Given the description of an element on the screen output the (x, y) to click on. 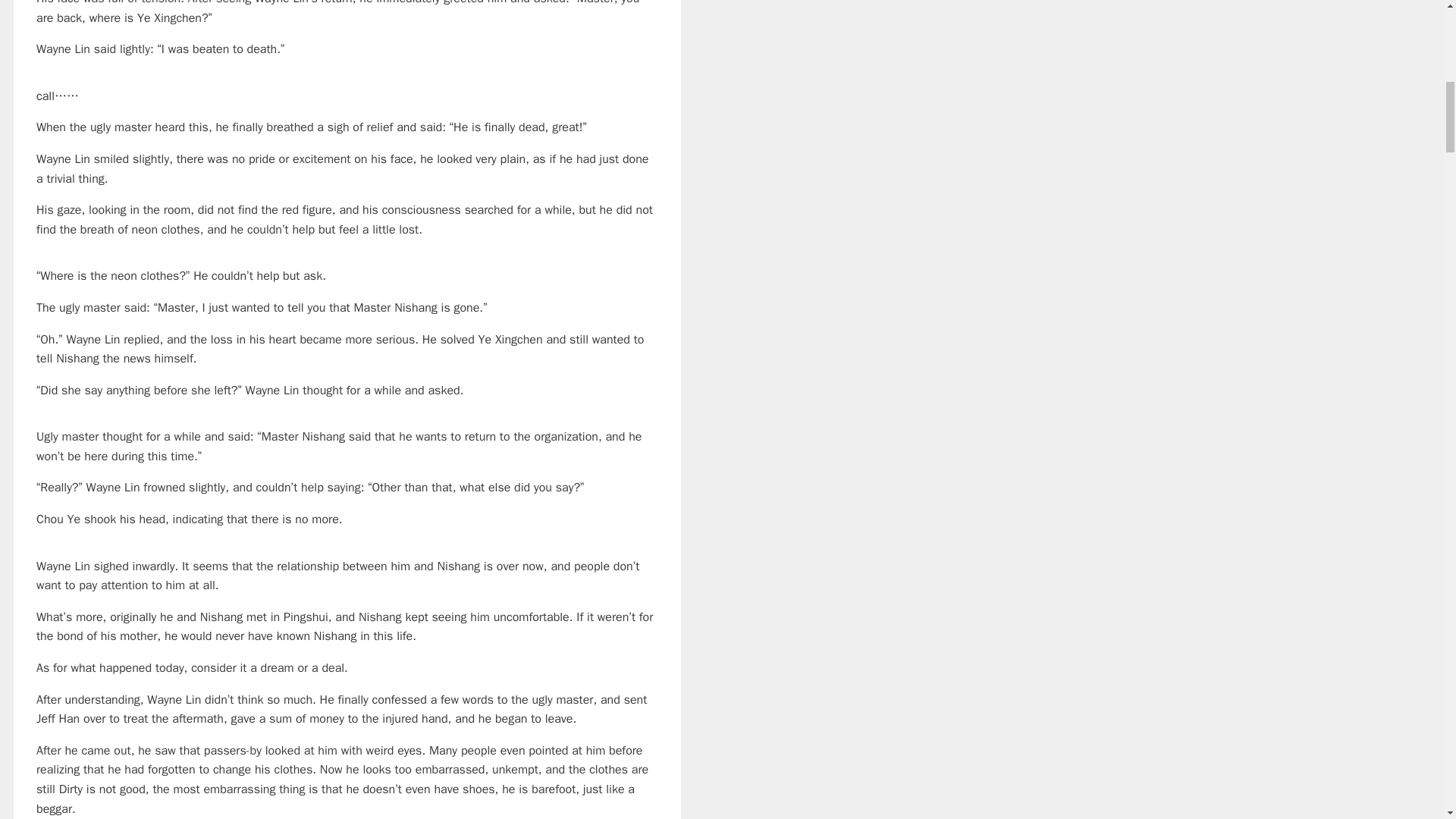
Scroll back to top (1406, 720)
